Given the description of an element on the screen output the (x, y) to click on. 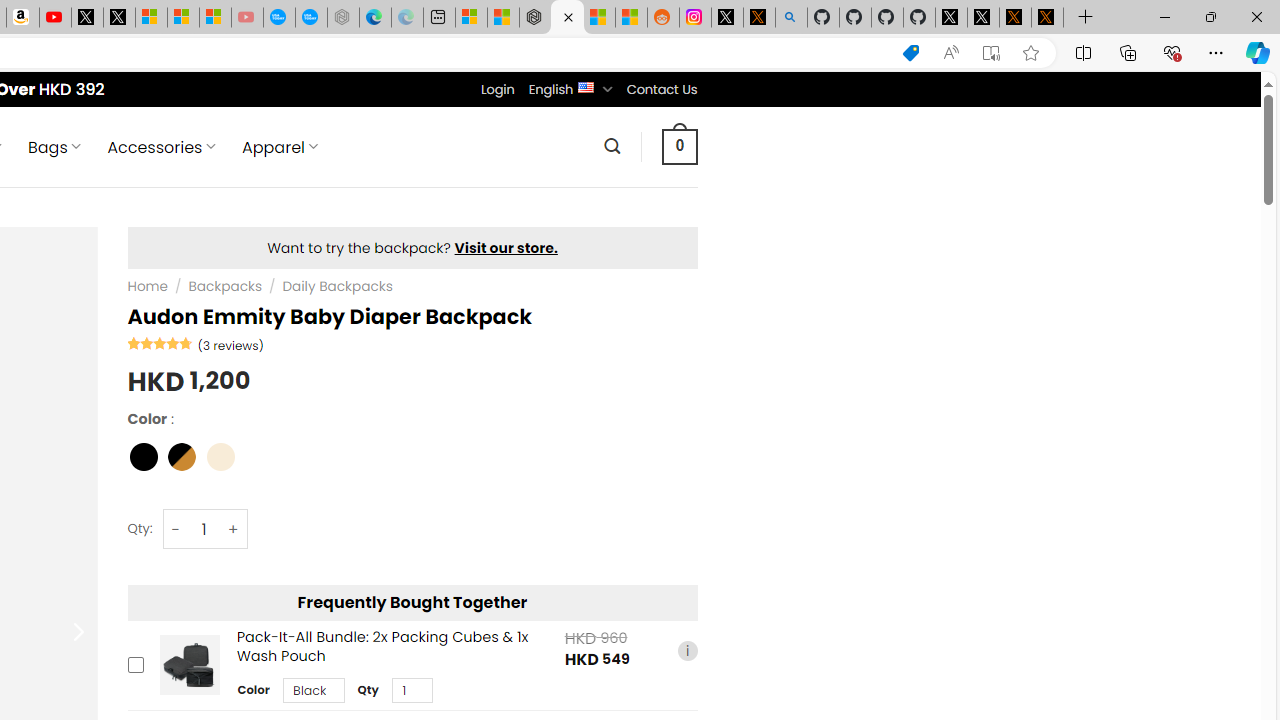
Nordace - Nordace has arrived Hong Kong - Sleeping (343, 17)
Shanghai, China Weather trends | Microsoft Weather (630, 17)
Log in to X / X (727, 17)
Pack-It-All Bundle: 2x Packing Cubes & 1x Wash Pouch (189, 665)
i (687, 650)
  0   (679, 146)
